Given the description of an element on the screen output the (x, y) to click on. 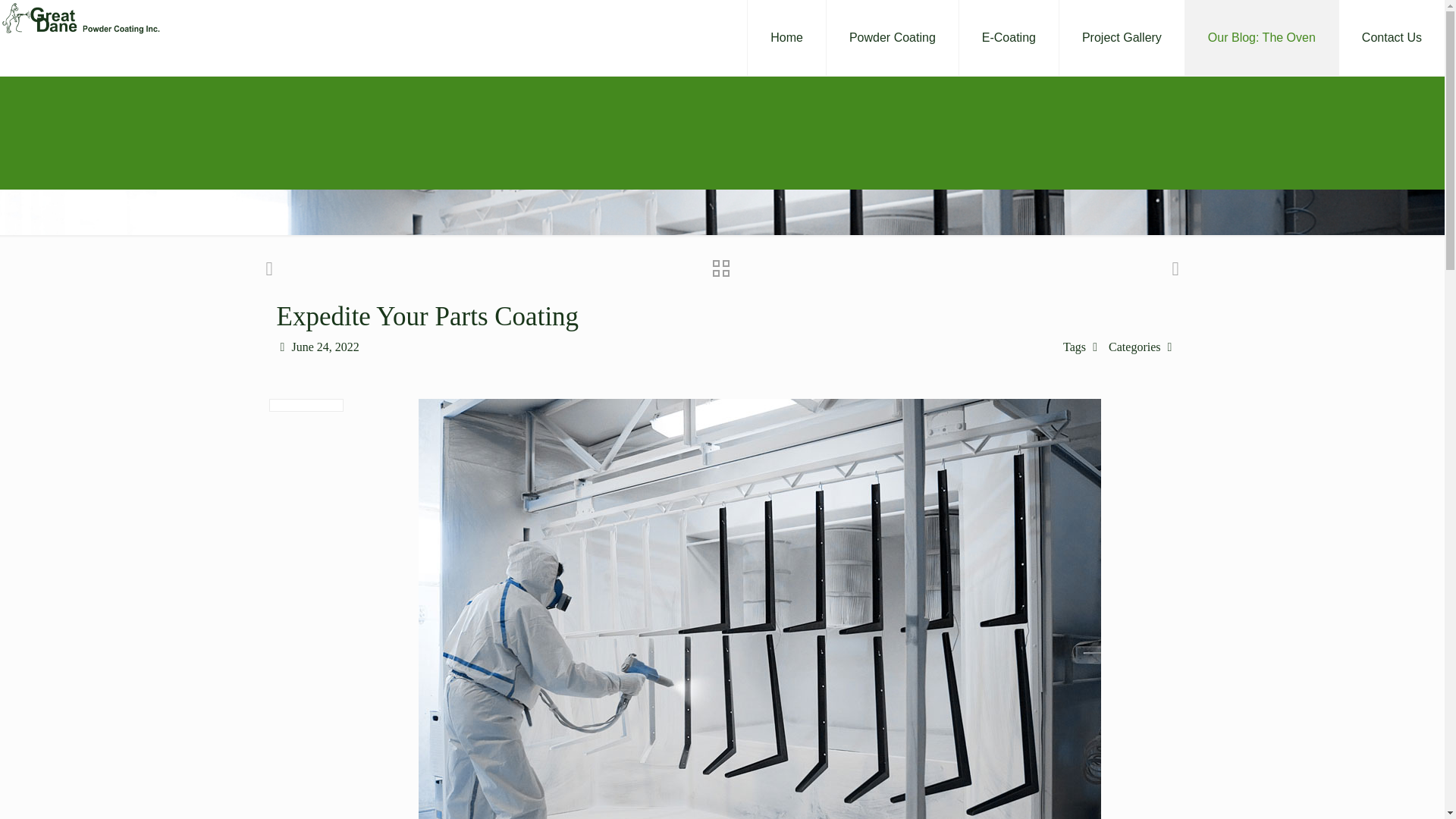
E-Coating (1009, 38)
Our Blog: The Oven (1262, 38)
Home (786, 38)
Powder Coating (893, 38)
Great Dane Powder Coating (80, 18)
Project Gallery (1122, 38)
